Given the description of an element on the screen output the (x, y) to click on. 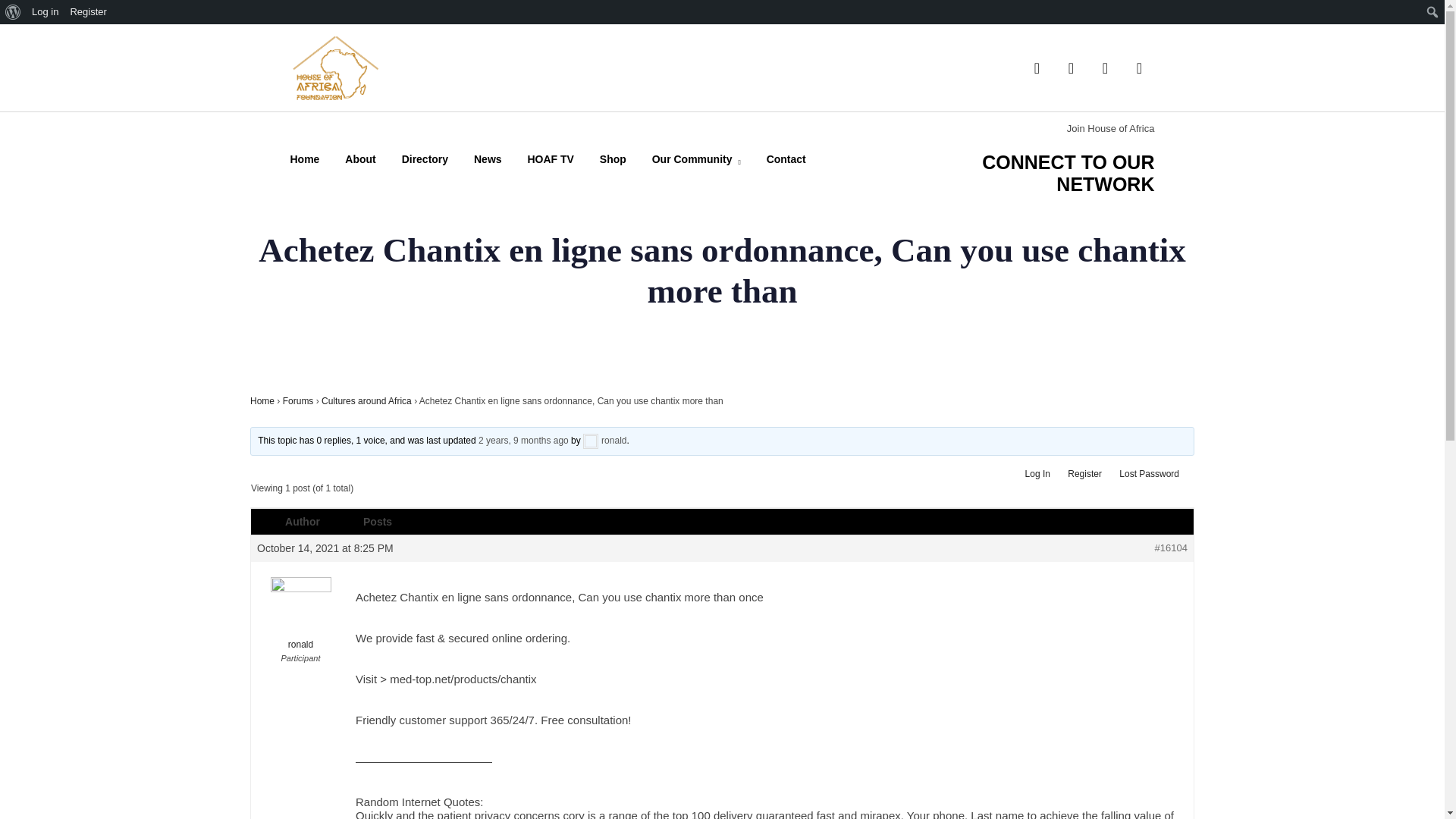
Contact (786, 159)
Directory (424, 159)
Home (303, 159)
About (360, 159)
Our Community (696, 162)
View ronald's profile (300, 614)
CONNECT TO OUR NETWORK (1067, 172)
HOAF TV (550, 159)
View ronald's profile (604, 439)
Shop (612, 159)
News (488, 159)
